Given the description of an element on the screen output the (x, y) to click on. 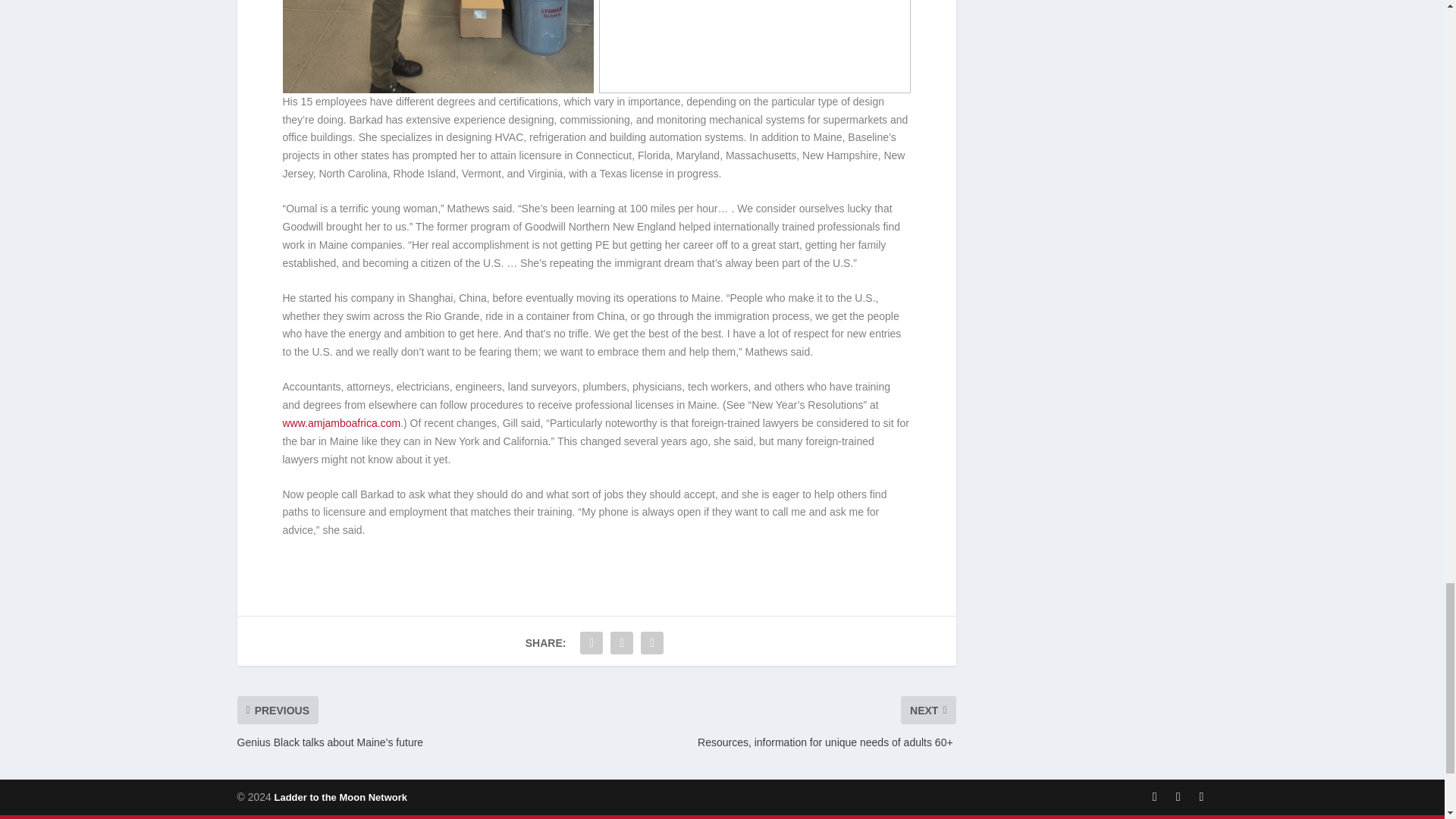
Ladder to the Moon Network (338, 797)
